Given the description of an element on the screen output the (x, y) to click on. 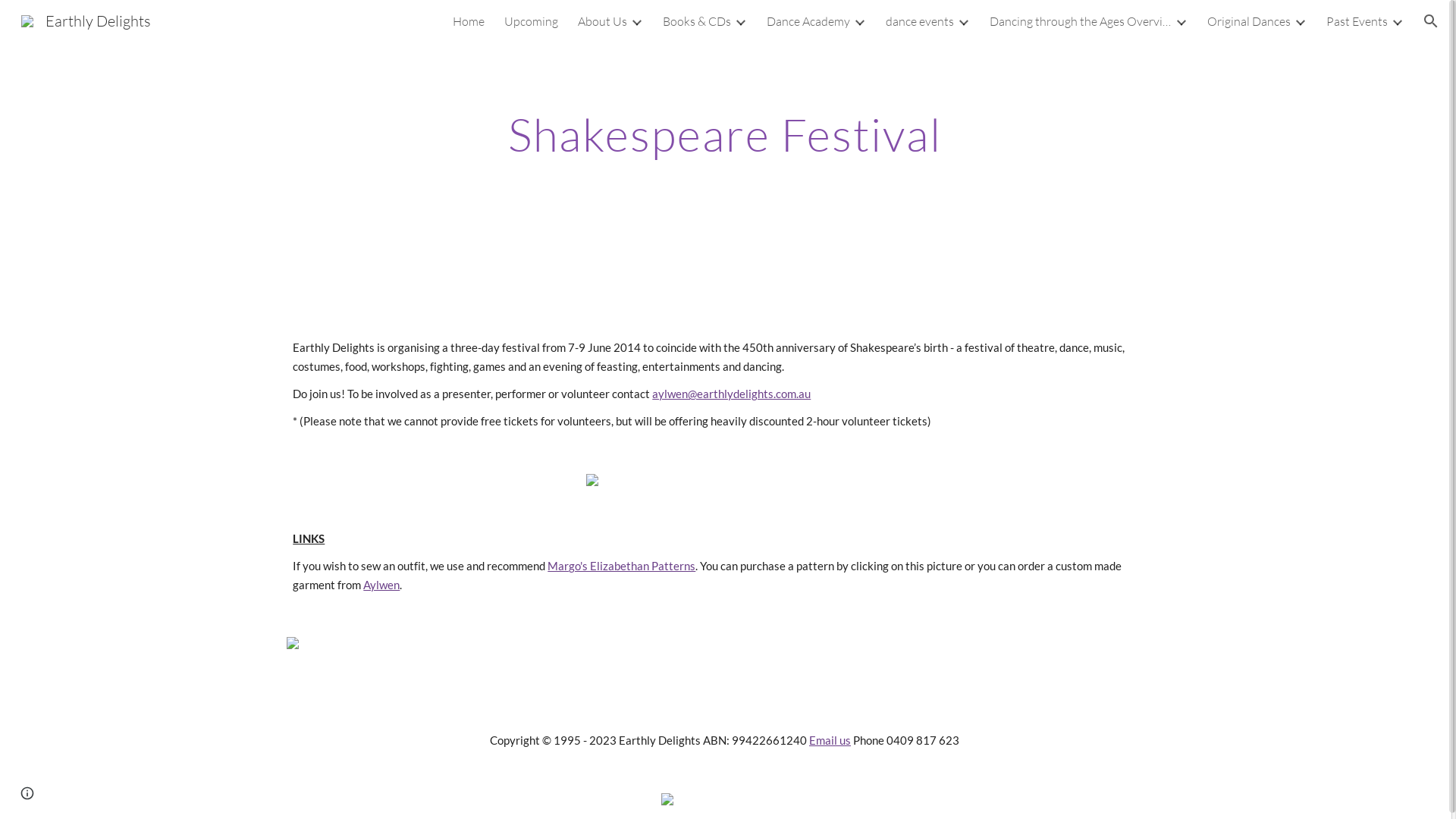
Original Dances Element type: text (1248, 20)
Upcoming Element type: text (531, 20)
Aylwen Element type: text (381, 584)
Expand/Collapse Element type: hover (739, 20)
Past Events Element type: text (1356, 20)
Email us Element type: text (829, 740)
Dance Academy Element type: text (808, 20)
dance events Element type: text (919, 20)
aylwen@earthlydelights.com.au Element type: text (731, 393)
Expand/Collapse Element type: hover (962, 20)
Dancing through the Ages Overview and Companions-a Element type: text (1080, 20)
Expand/Collapse Element type: hover (859, 20)
Expand/Collapse Element type: hover (1299, 20)
Expand/Collapse Element type: hover (636, 20)
About Us Element type: text (602, 20)
Margo's Elizabethan Patterns Element type: text (621, 565)
Books & CDs Element type: text (696, 20)
Expand/Collapse Element type: hover (1180, 20)
Earthly Delights Element type: text (86, 18)
Expand/Collapse Element type: hover (1396, 20)
Home Element type: text (468, 20)
